Given the description of an element on the screen output the (x, y) to click on. 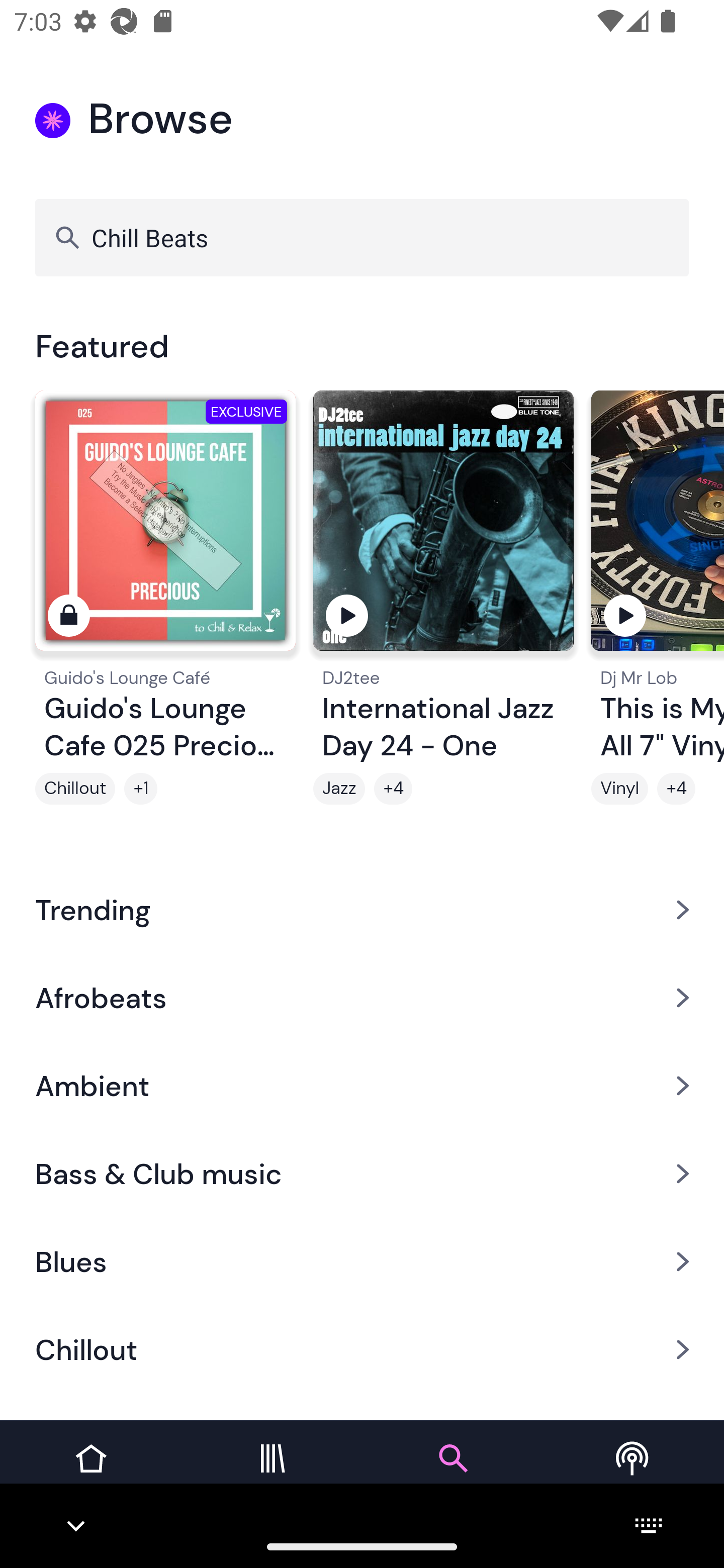
Chill Beats (361, 237)
EXCLUSIVE (165, 528)
Chillout (75, 788)
Jazz (338, 788)
Vinyl (619, 788)
Trending (361, 909)
Afrobeats (361, 997)
Ambient (361, 1085)
Bass & Club music (361, 1174)
Blues (361, 1262)
Chillout (361, 1349)
Home tab (90, 1473)
Library tab (271, 1473)
Browse tab (452, 1473)
Live tab (633, 1473)
